Given the description of an element on the screen output the (x, y) to click on. 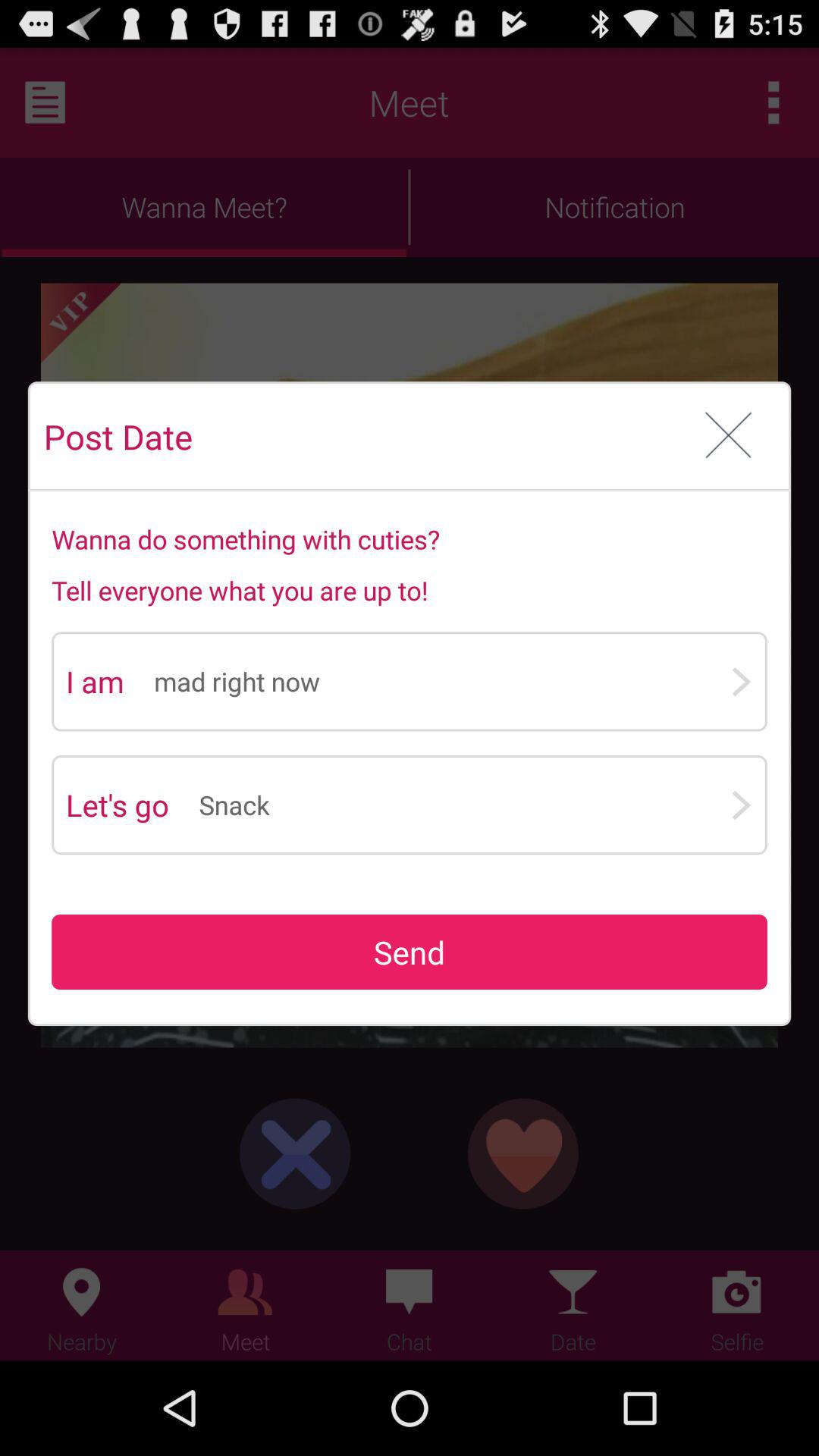
turn on the item to the right of the i am item (442, 681)
